Given the description of an element on the screen output the (x, y) to click on. 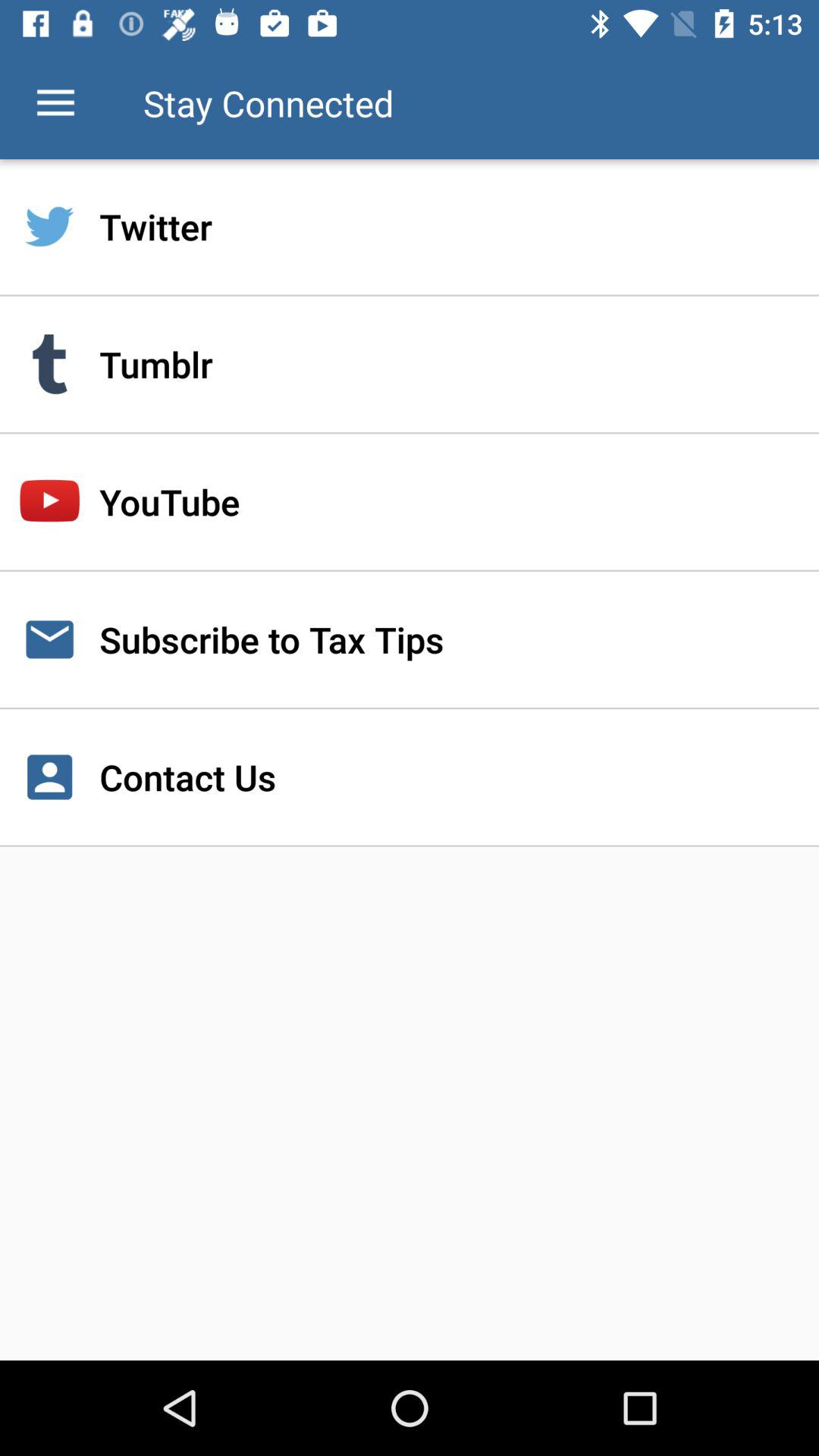
turn off the item above the twitter (55, 103)
